Given the description of an element on the screen output the (x, y) to click on. 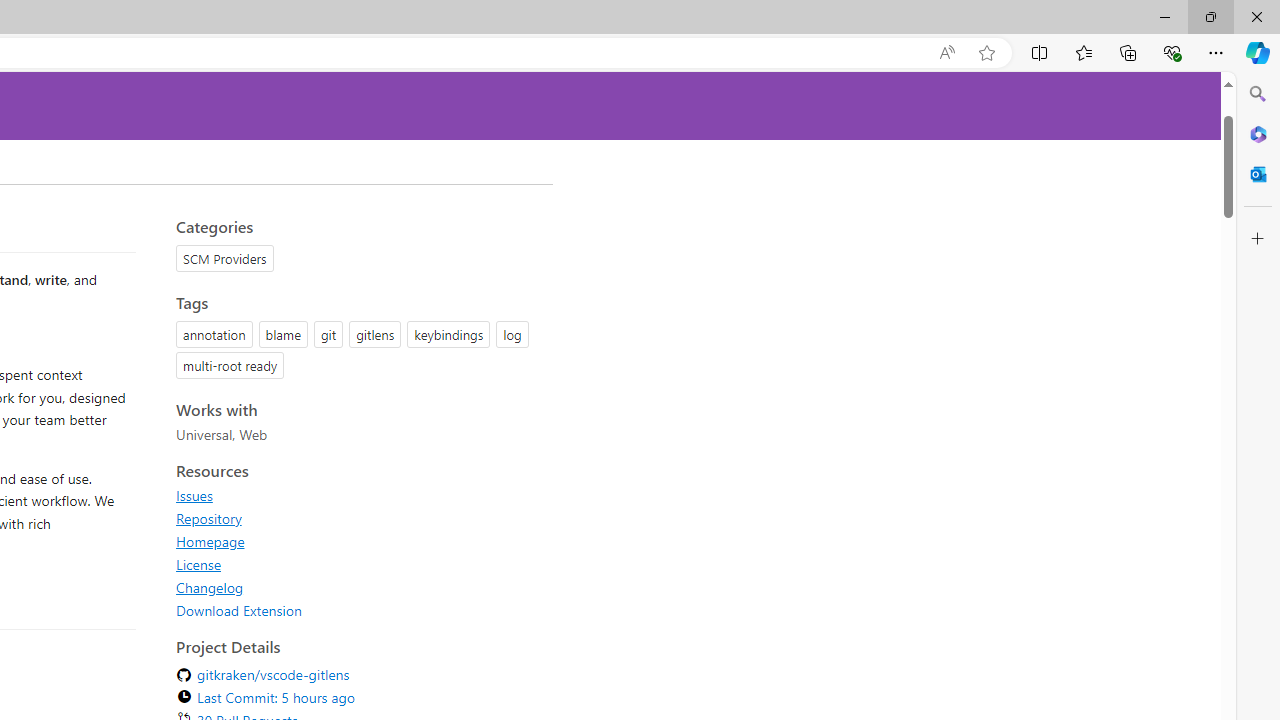
License (358, 564)
Homepage (358, 541)
Changelog (210, 587)
Download Extension (239, 610)
